Given the description of an element on the screen output the (x, y) to click on. 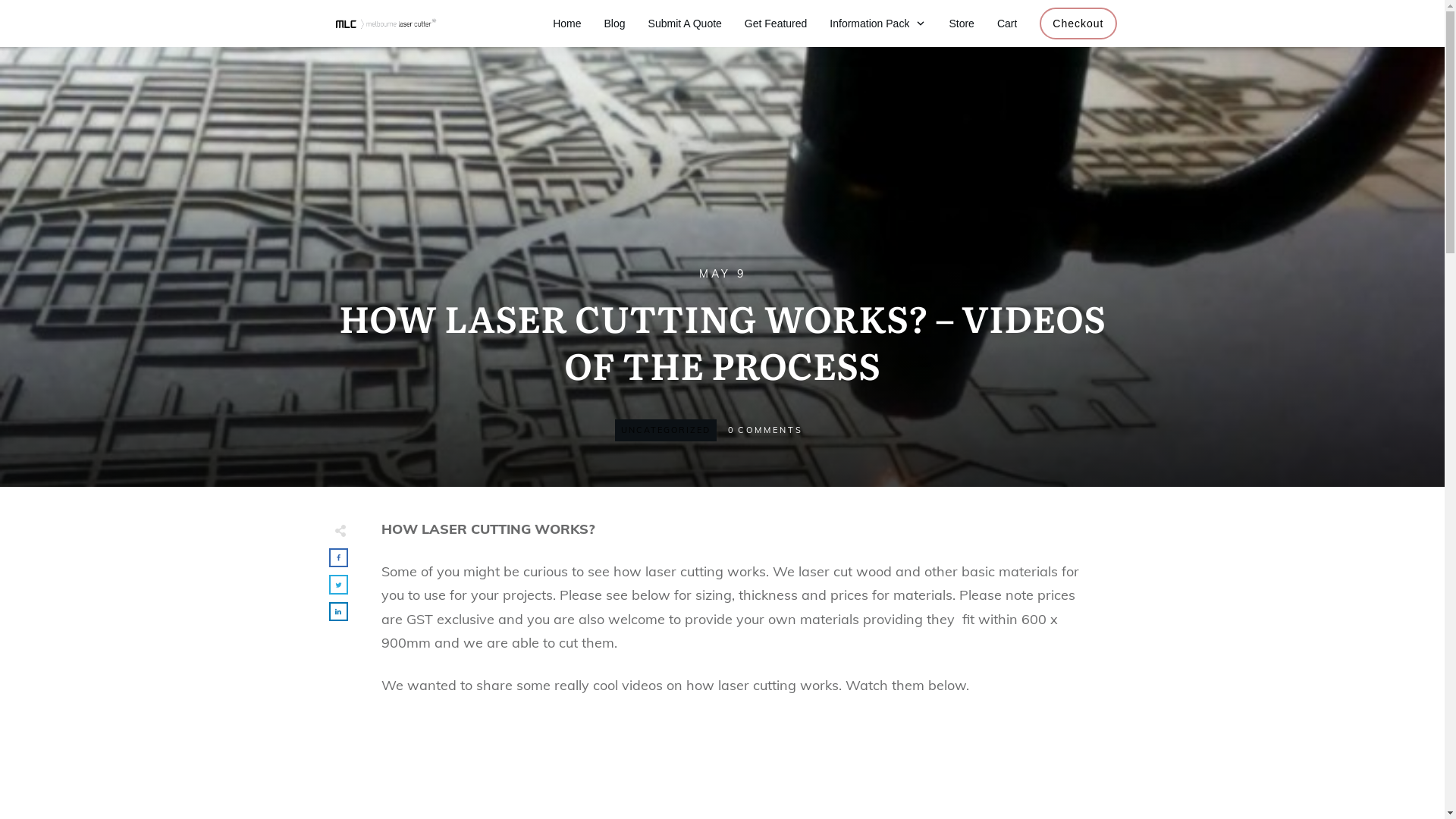
Information Pack Element type: text (877, 23)
Submit A Quote Element type: text (684, 23)
Cart Element type: text (1006, 23)
Home Element type: text (566, 23)
Checkout Element type: text (1077, 23)
Blog Element type: text (614, 23)
UNCATEGORIZED Element type: text (665, 429)
Get Featured Element type: text (775, 23)
Store Element type: text (960, 23)
